Given the description of an element on the screen output the (x, y) to click on. 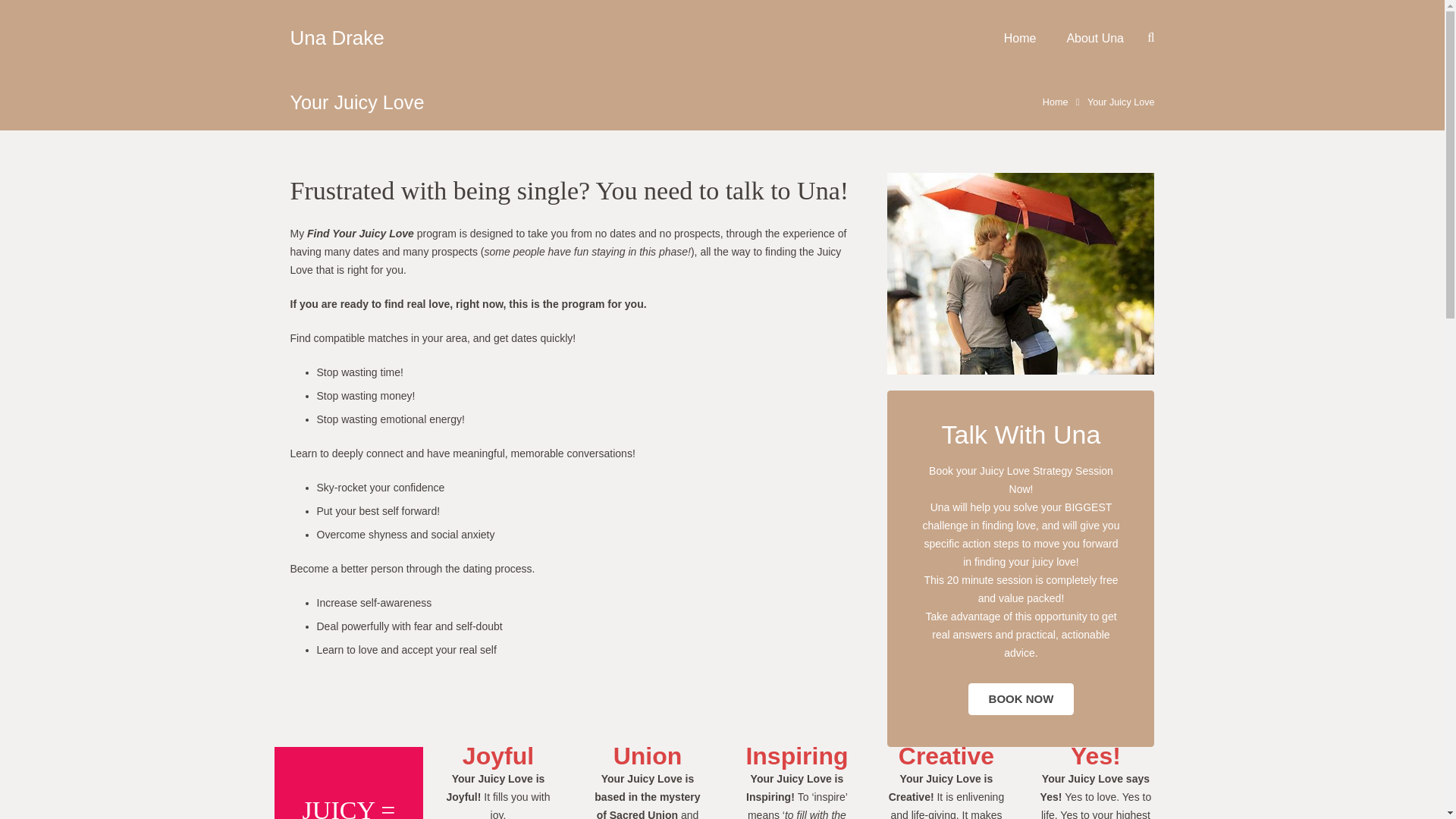
BOOK NOW (1021, 698)
Una Drake (336, 36)
Home (1019, 37)
Home (1055, 102)
About Una (1094, 37)
